Given the description of an element on the screen output the (x, y) to click on. 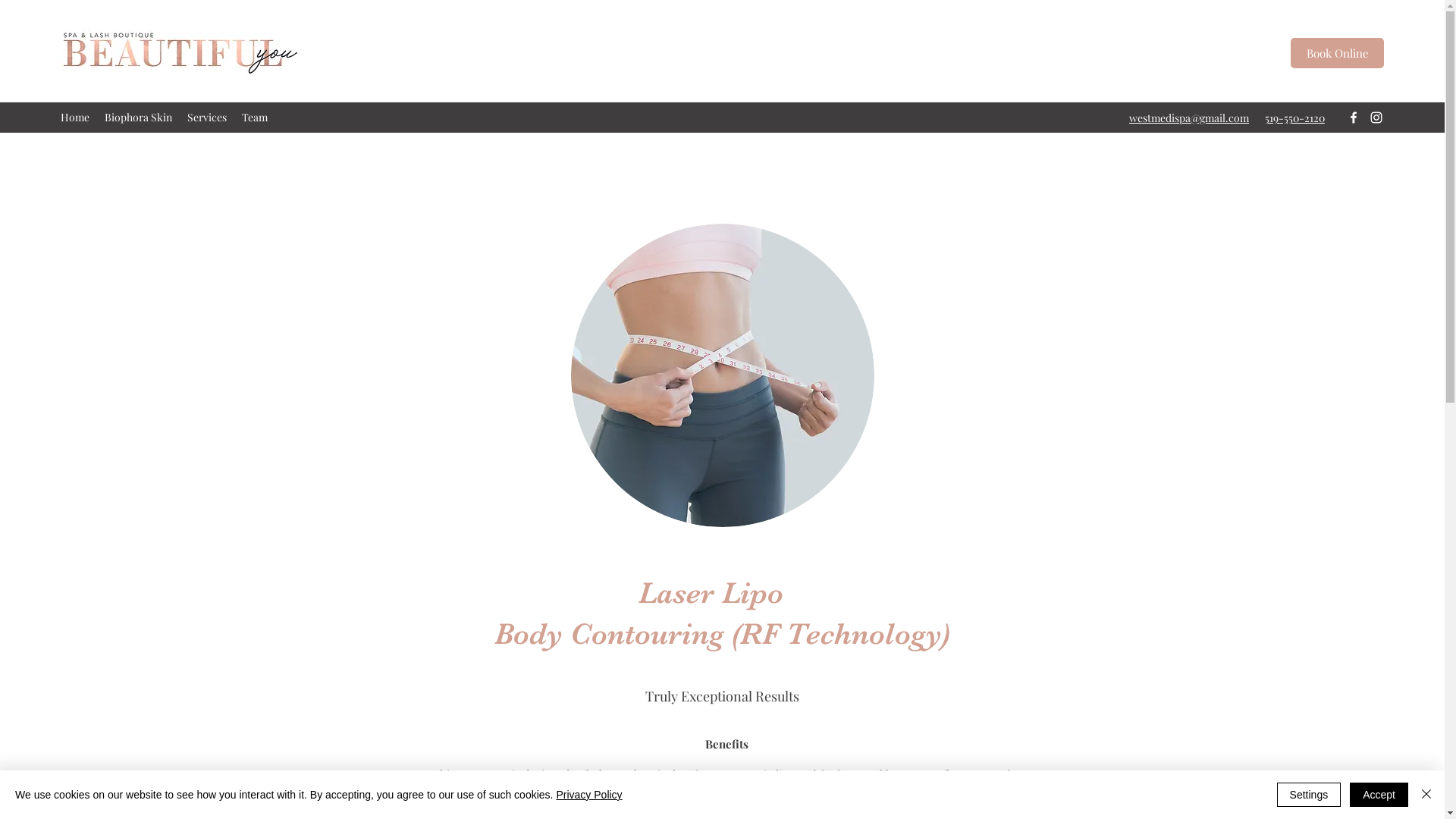
Settings Element type: text (1309, 794)
Team Element type: text (254, 117)
Privacy Policy Element type: text (588, 794)
Services Element type: text (206, 117)
Accept Element type: text (1378, 794)
Home Element type: text (75, 117)
Book Online Element type: text (1336, 52)
westmedispa@gmail.com Element type: text (1188, 117)
519-550-2120 Element type: text (1294, 117)
Biophora Skin Element type: text (138, 117)
